Given the description of an element on the screen output the (x, y) to click on. 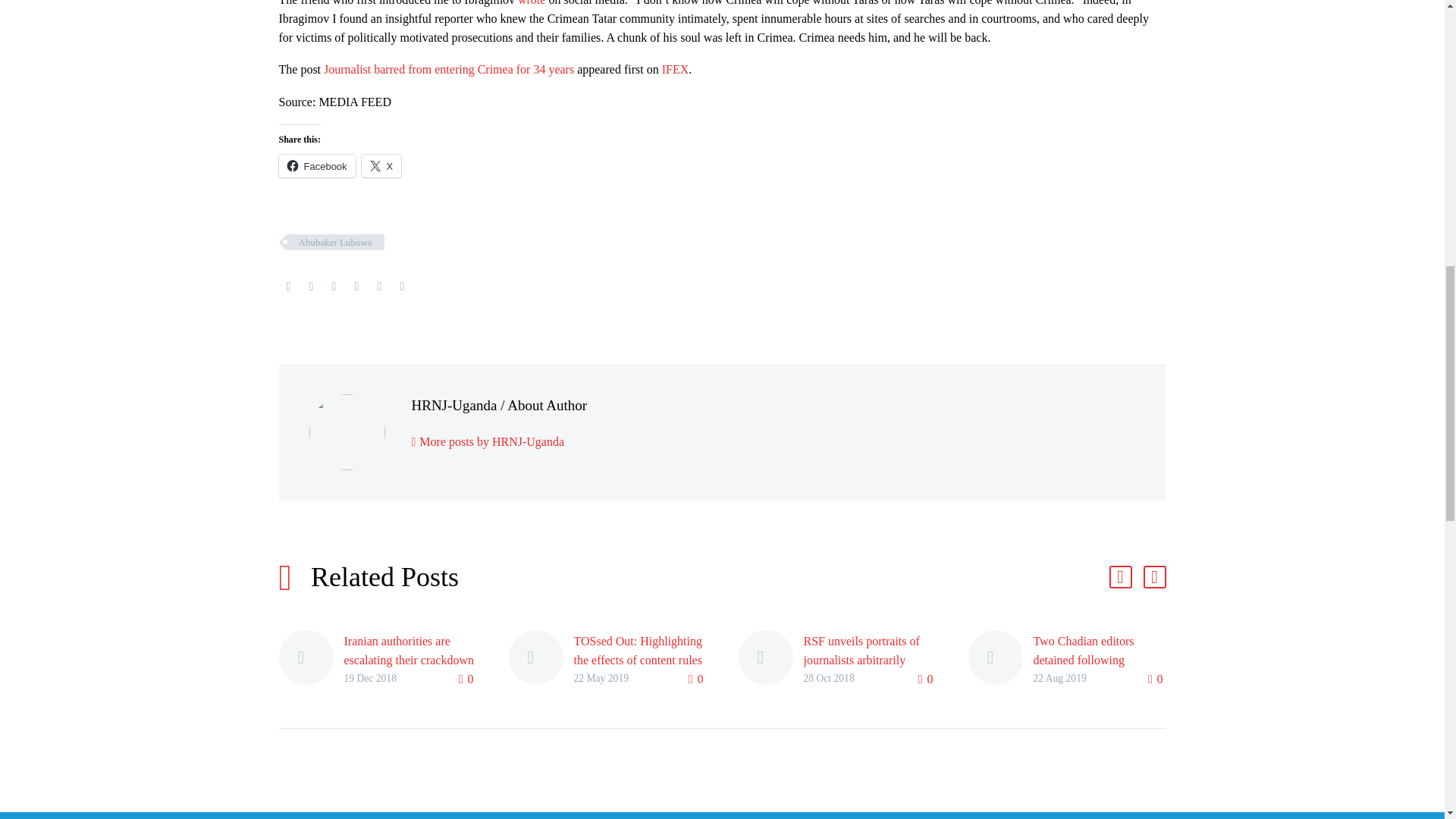
Twitter (310, 286)
Pinterest (333, 286)
Click to share on X (381, 165)
wrote (531, 2)
Tumblr (356, 286)
Click to share on Facebook (317, 165)
Reddit (401, 286)
Facebook (288, 286)
LinkedIn (378, 286)
